Given the description of an element on the screen output the (x, y) to click on. 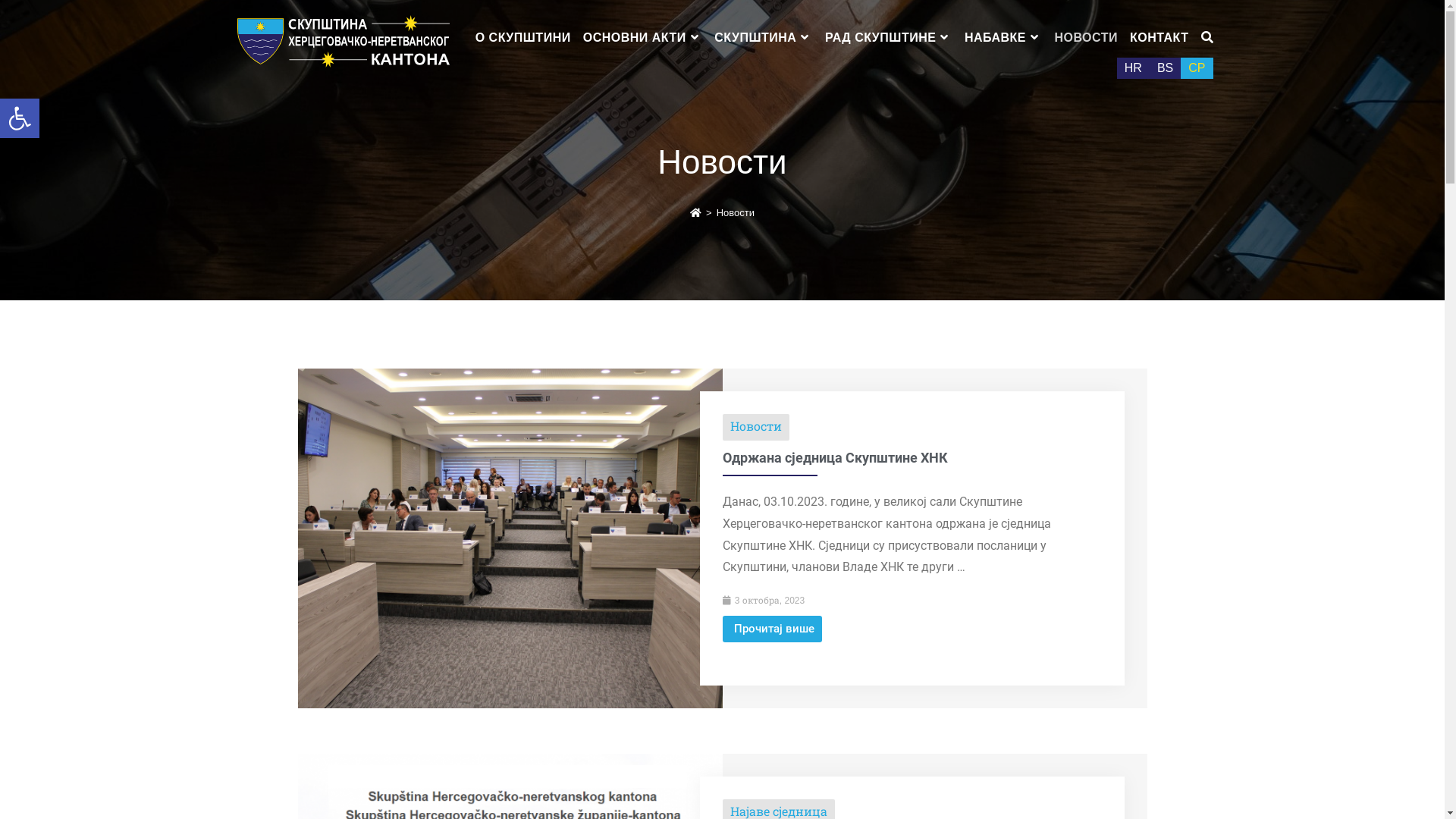
BS Element type: text (1164, 67)
HR Element type: text (1133, 67)
